Given the description of an element on the screen output the (x, y) to click on. 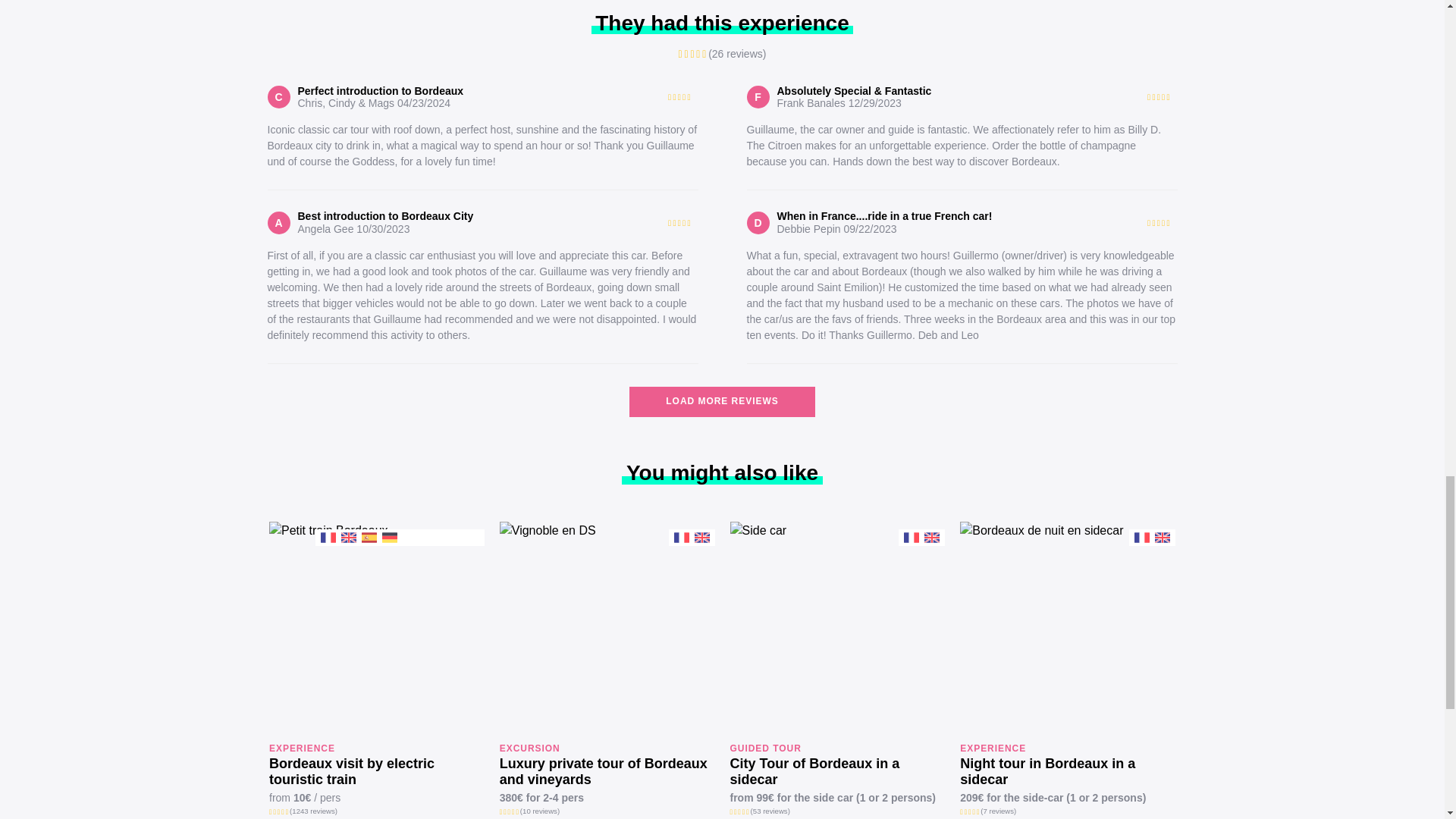
Side car (836, 629)
Vignoble en DS (606, 629)
Bordeaux de nuit en sidecar (1066, 629)
Petit train Bordeaux (376, 629)
